Given the description of an element on the screen output the (x, y) to click on. 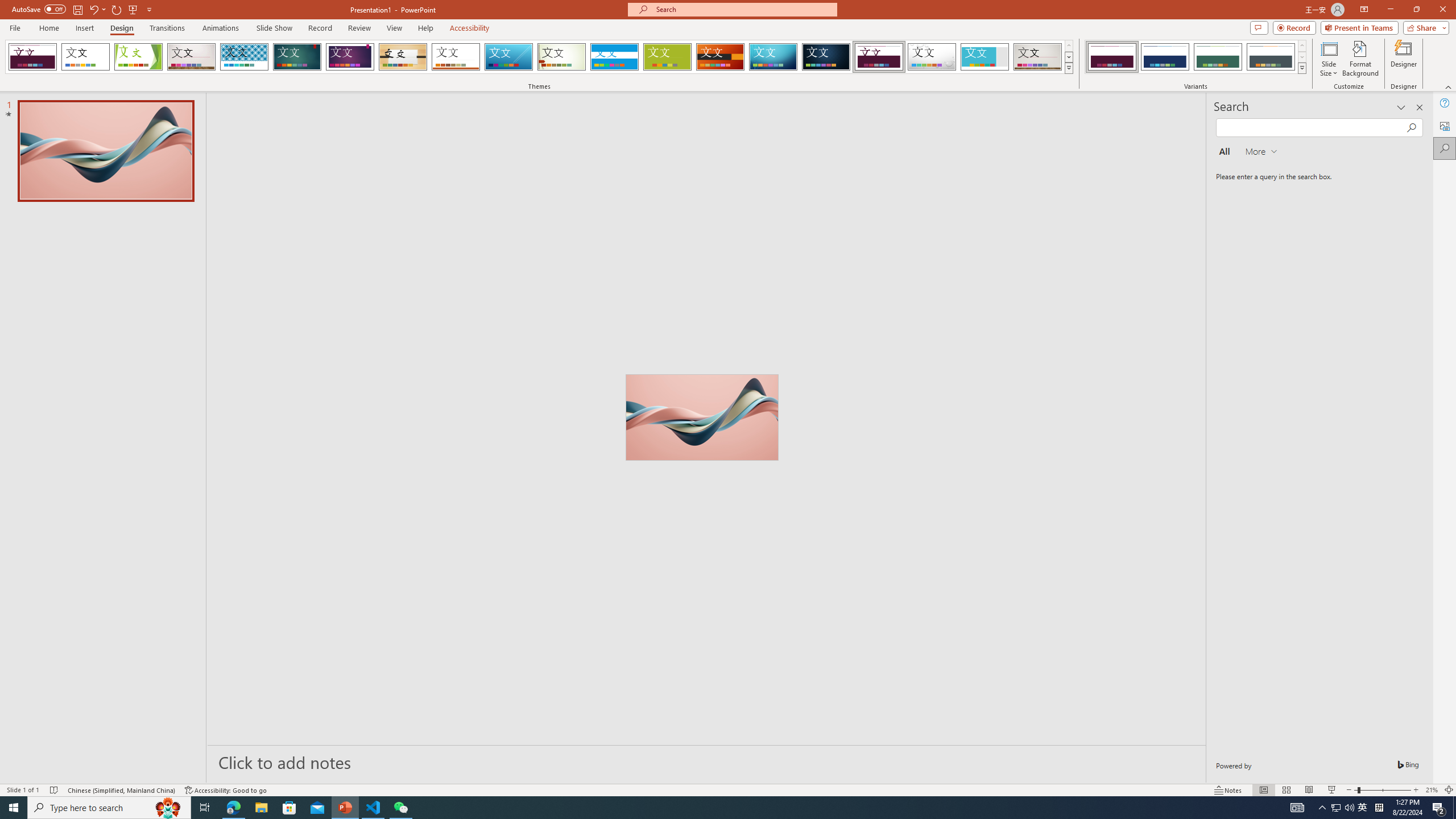
Organic (403, 56)
Format Background (1360, 58)
Gallery (1037, 56)
Circuit (772, 56)
Ion (296, 56)
Dividend Variant 4 (1270, 56)
